Given the description of an element on the screen output the (x, y) to click on. 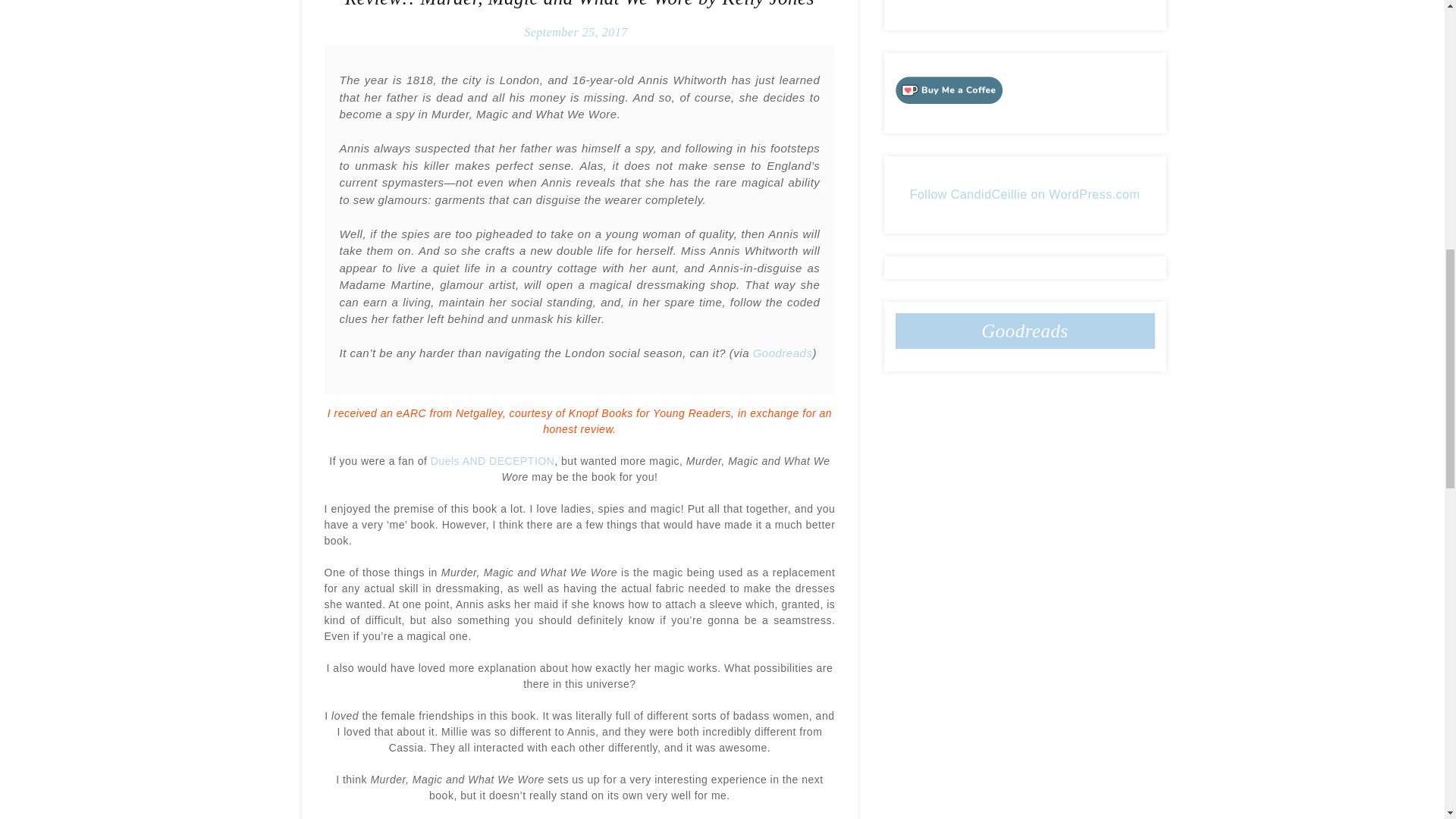
Review:: Murder, Magic and What We Wore by Kelly Jones (579, 4)
September 25, 2017 (575, 31)
Goodreads (782, 352)
Duels AND DECEPTION (492, 460)
